Given the description of an element on the screen output the (x, y) to click on. 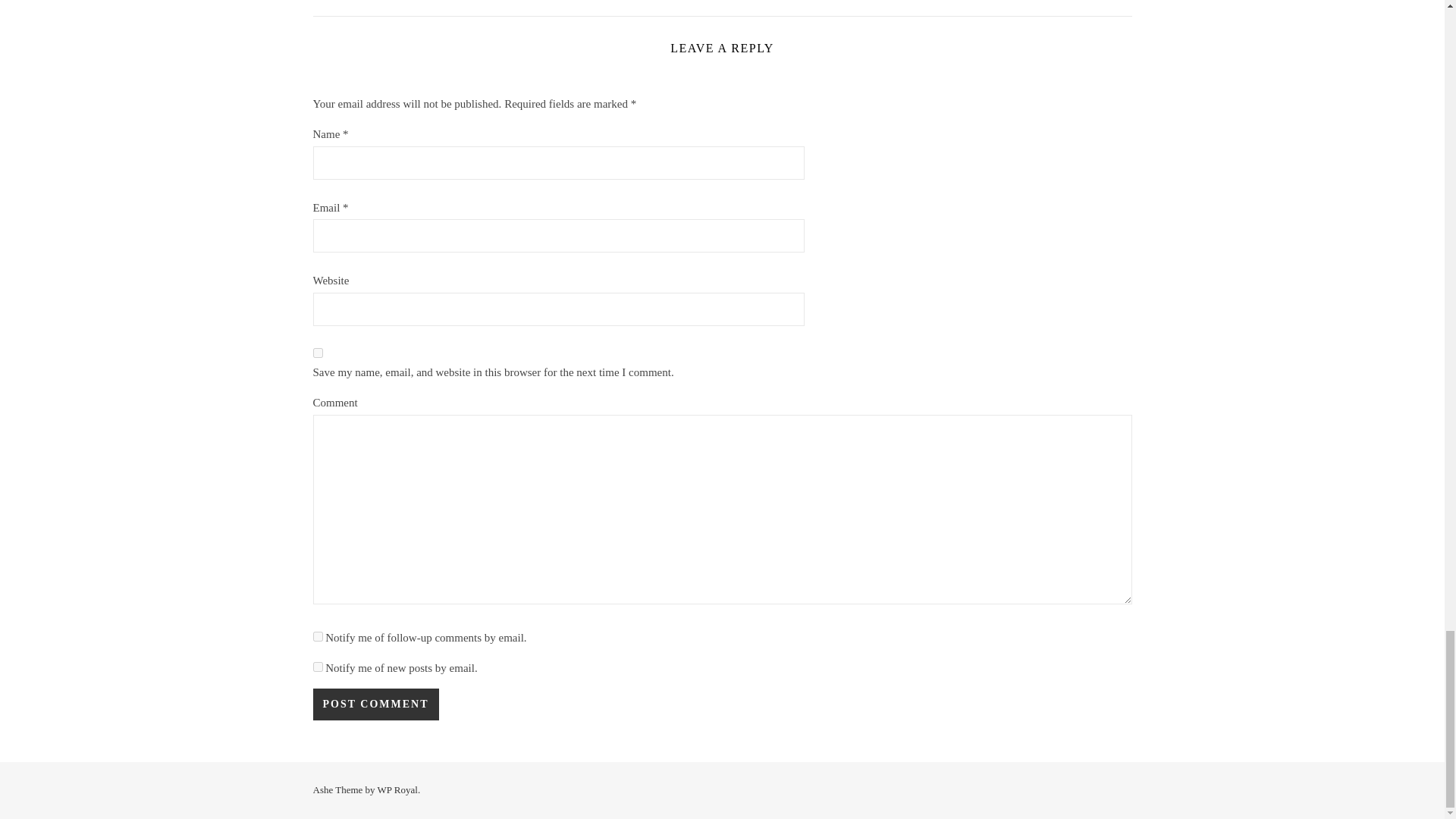
WP Royal (397, 789)
Post Comment (375, 704)
subscribe (317, 636)
subscribe (317, 666)
Post Comment (375, 704)
yes (317, 352)
